Given the description of an element on the screen output the (x, y) to click on. 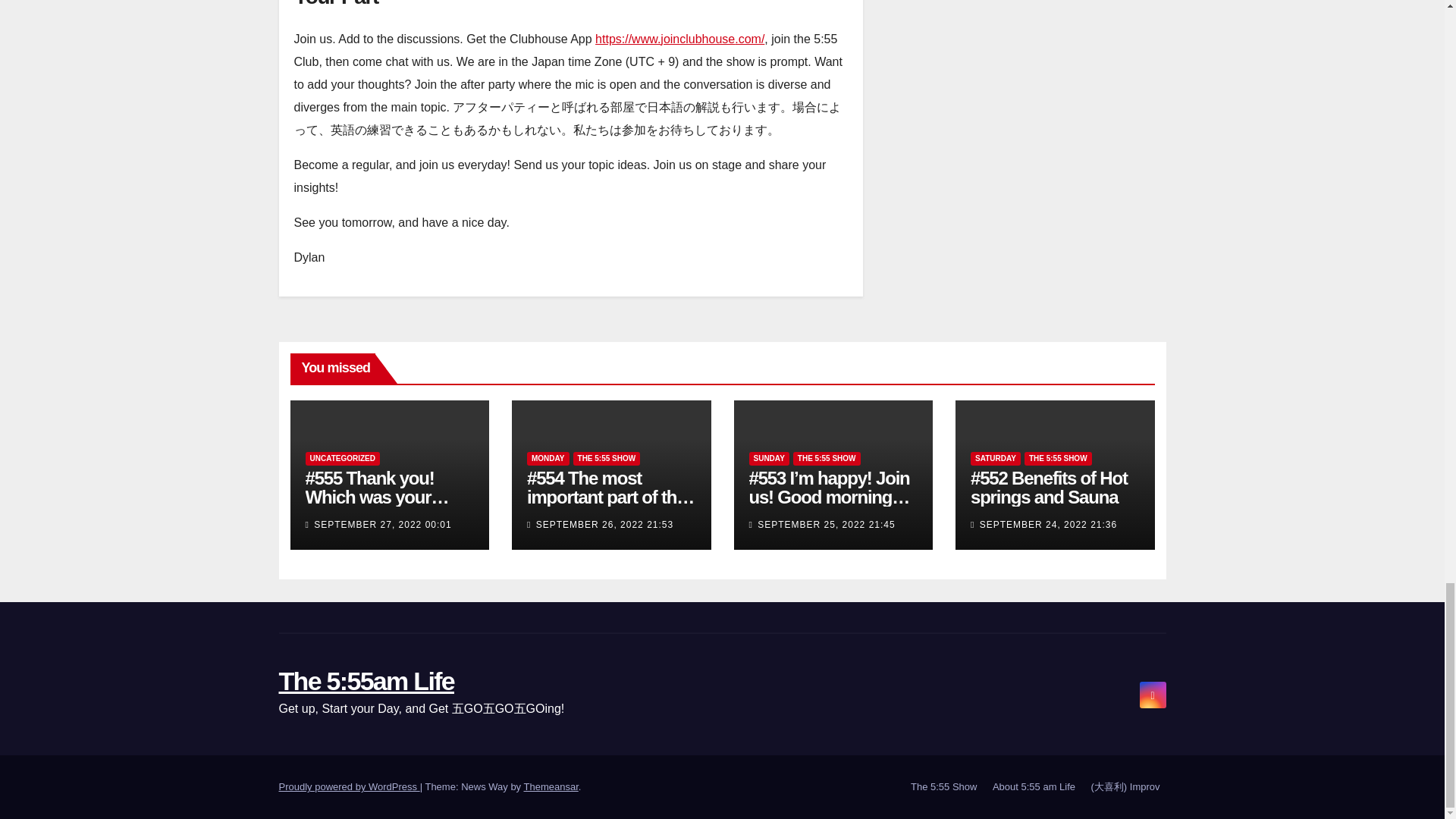
About 5:55 am Life (1034, 786)
The 5:55 Show (943, 786)
joinclubhouse (698, 38)
